Given the description of an element on the screen output the (x, y) to click on. 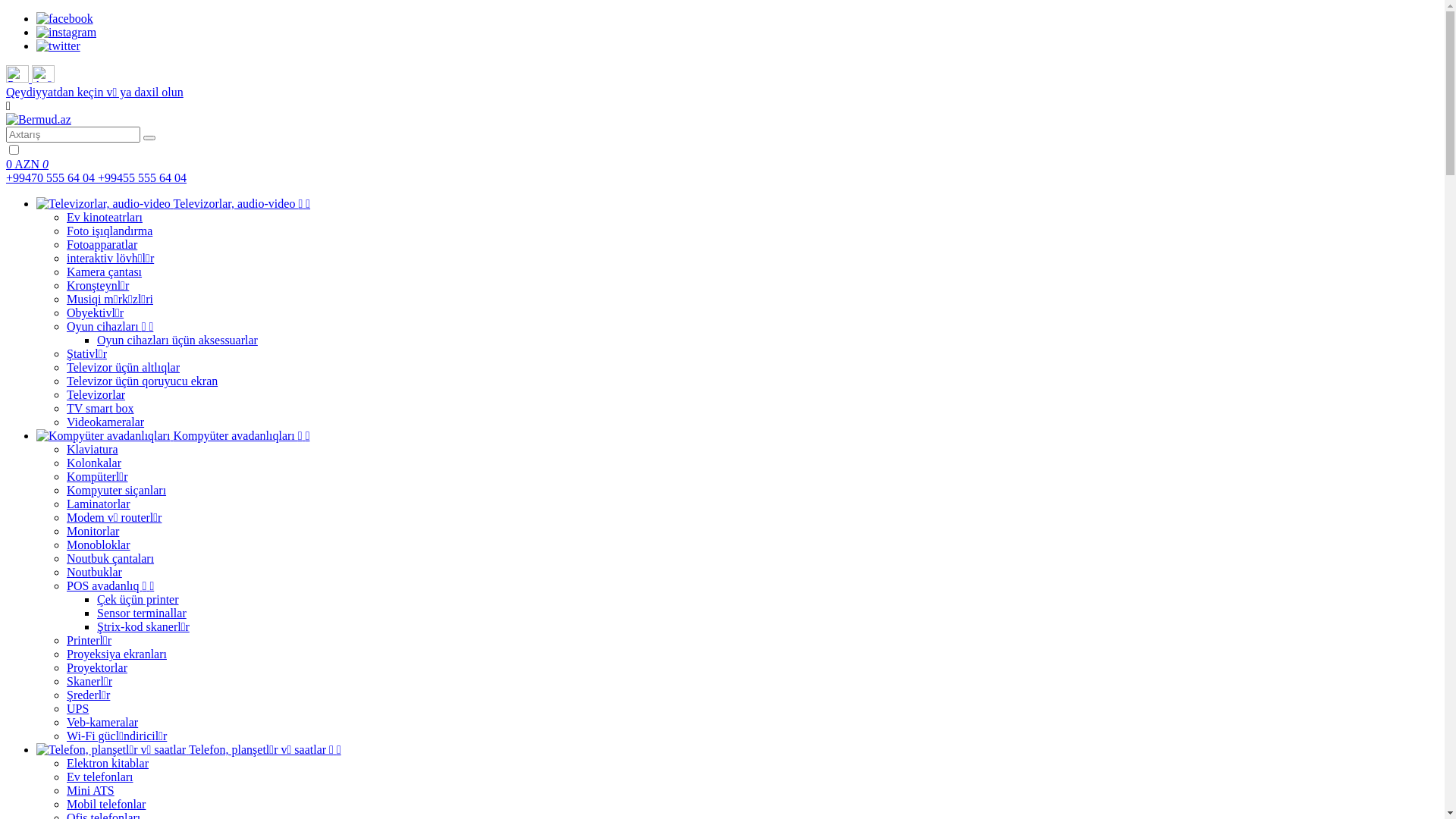
Elektron kitablar Element type: text (107, 762)
Noutbuklar Element type: text (94, 571)
Monobloklar Element type: text (98, 544)
Monitorlar Element type: text (92, 530)
+99455 555 64 04 Element type: text (141, 177)
twitter Element type: hover (58, 45)
Televizorlar Element type: text (95, 394)
+99470 555 64 04 Element type: text (51, 177)
facebook Element type: hover (64, 18)
Fotoapparatlar Element type: text (101, 244)
Laminatorlar Element type: text (98, 503)
Sensor terminallar Element type: text (141, 612)
Kolonkalar Element type: text (93, 462)
TV smart box Element type: text (100, 407)
Klaviatura Element type: text (92, 448)
Videokameralar Element type: text (105, 421)
Mini ATS Element type: text (90, 790)
Proyektorlar Element type: text (96, 667)
0 AZN 0 Element type: text (722, 164)
Bermud.az Element type: hover (38, 118)
instagram Element type: hover (66, 31)
Veb-kameralar Element type: text (102, 721)
UPS Element type: text (77, 708)
Mobil telefonlar Element type: text (105, 803)
